Given the description of an element on the screen output the (x, y) to click on. 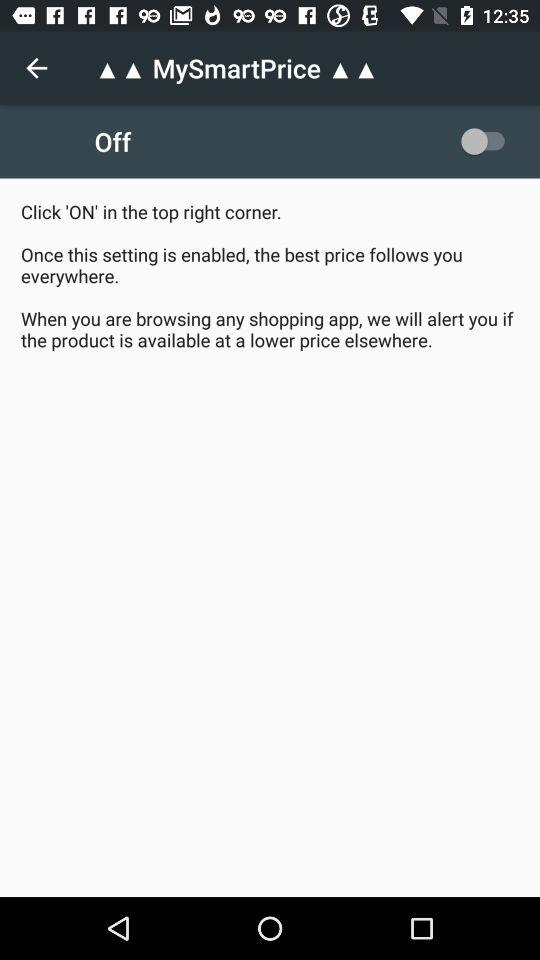
choose the app above the click on in app (487, 141)
